Given the description of an element on the screen output the (x, y) to click on. 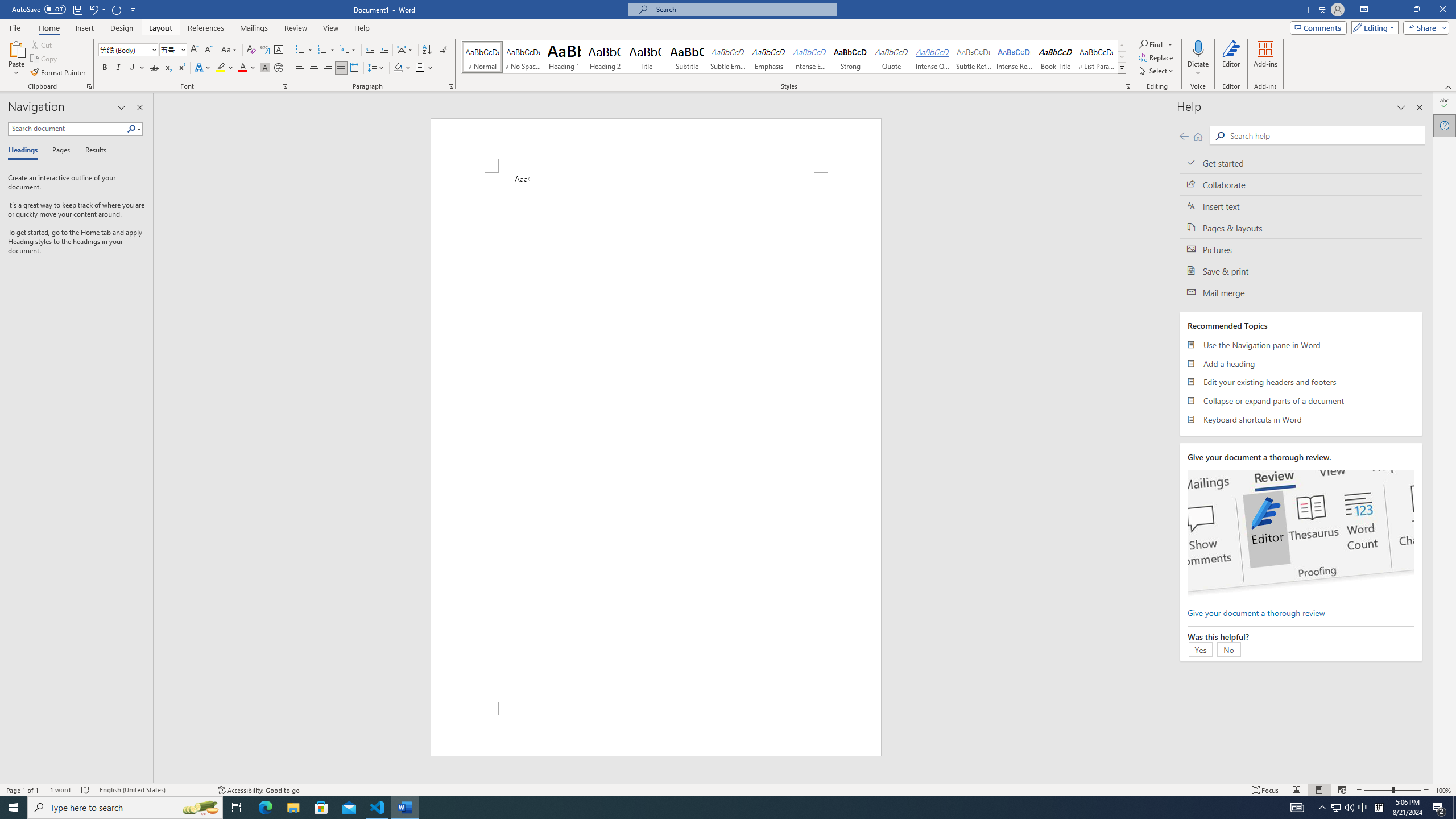
Clear Formatting (250, 49)
Italic (118, 67)
Multilevel List (347, 49)
Yes (1200, 649)
Show/Hide Editing Marks (444, 49)
Pages & layouts (1300, 228)
